Given the description of an element on the screen output the (x, y) to click on. 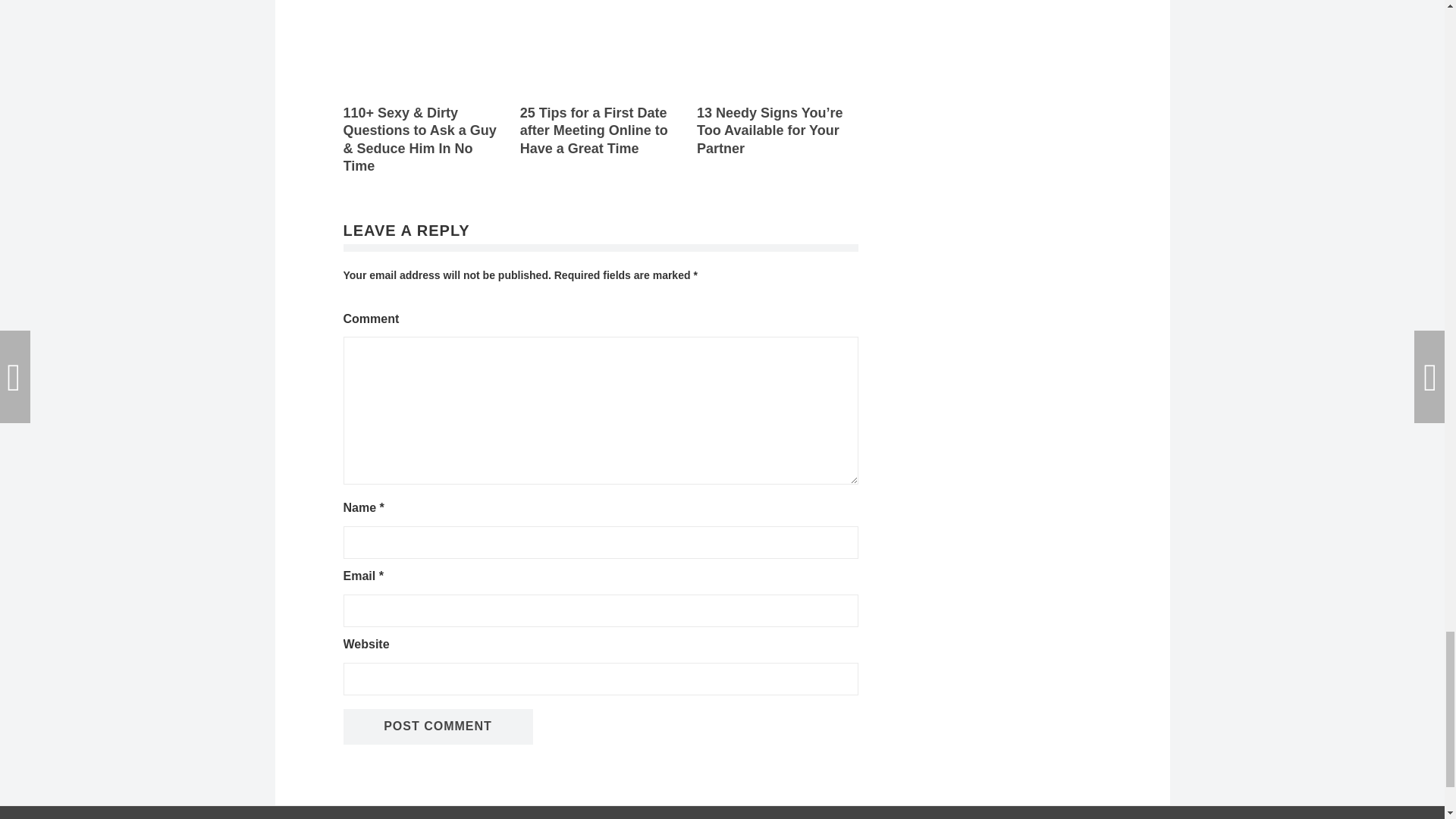
Post Comment (437, 726)
